Given the description of an element on the screen output the (x, y) to click on. 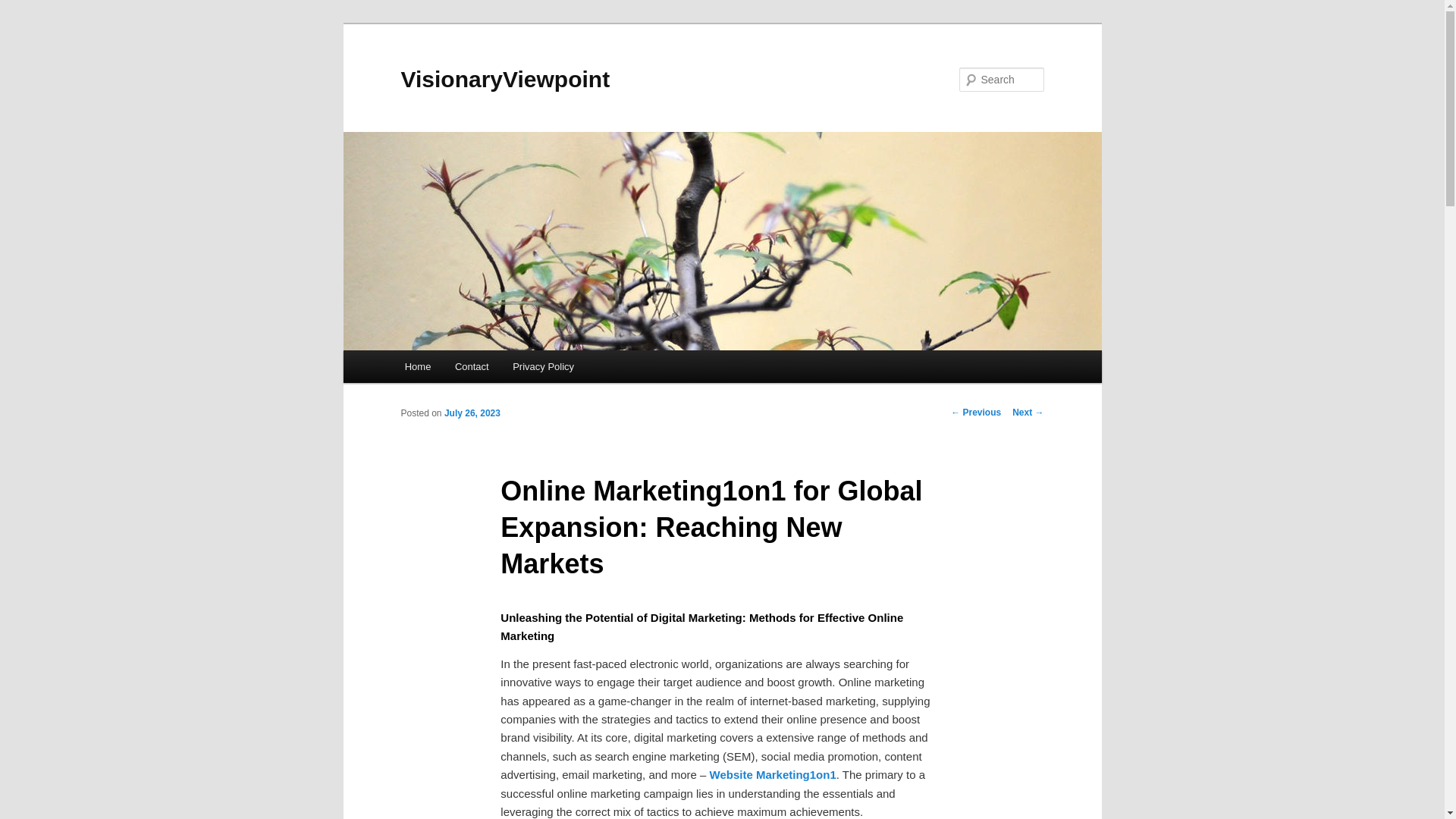
Privacy Policy (542, 366)
Search (24, 8)
July 26, 2023 (472, 412)
Home (417, 366)
Contact (471, 366)
5:31 pm (472, 412)
VisionaryViewpoint (505, 78)
Website Marketing1on1 (772, 774)
